Given the description of an element on the screen output the (x, y) to click on. 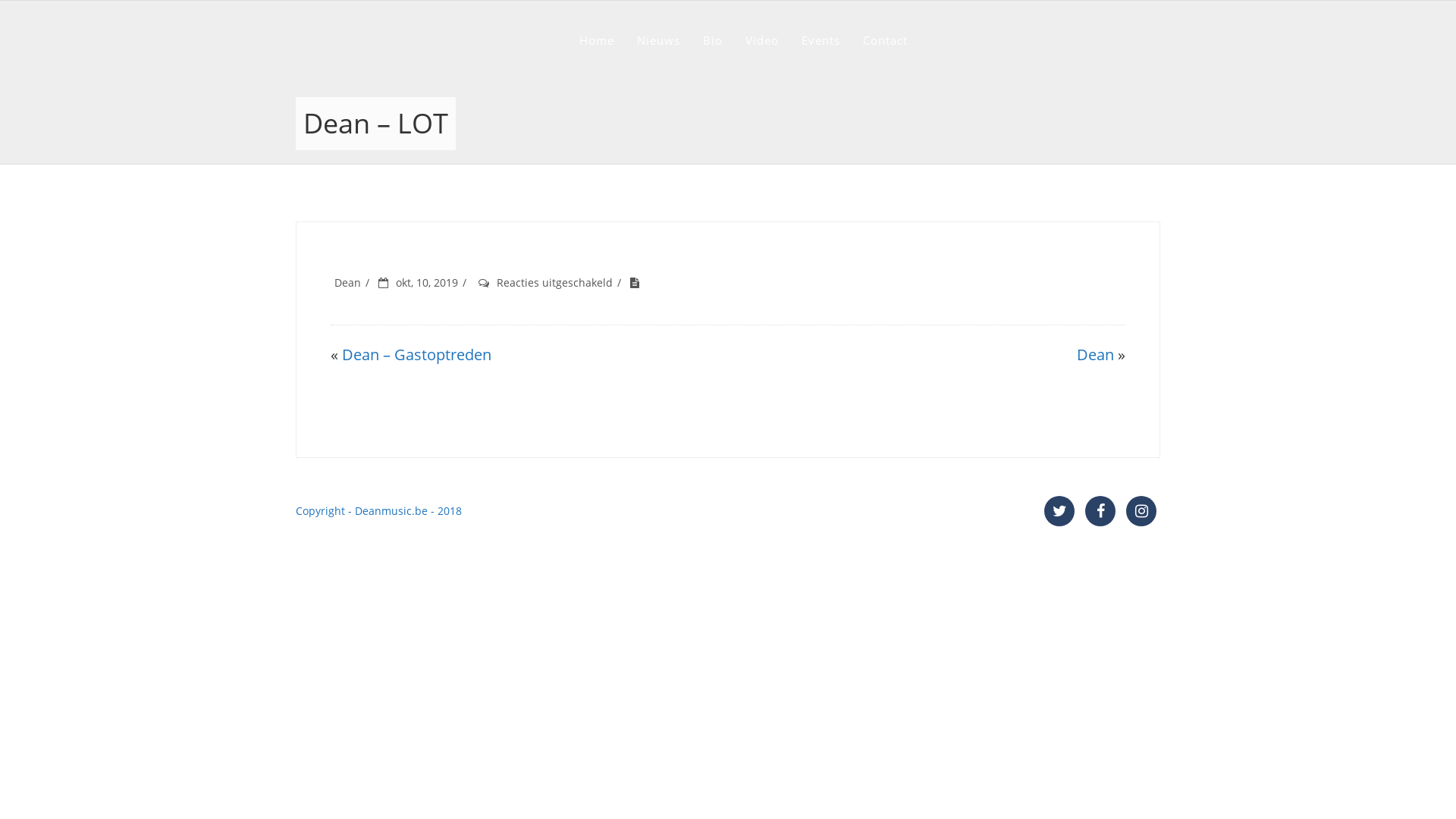
Twitter Element type: hover (1059, 510)
Facebook Element type: hover (1100, 510)
Bio Element type: text (711, 40)
Contact Element type: text (885, 40)
Instagram Element type: hover (1141, 510)
Home Element type: text (596, 40)
Nieuws Element type: text (658, 40)
Video Element type: text (761, 40)
Events Element type: text (820, 40)
Dean Element type: text (347, 282)
Dean Element type: text (1094, 354)
